Given the description of an element on the screen output the (x, y) to click on. 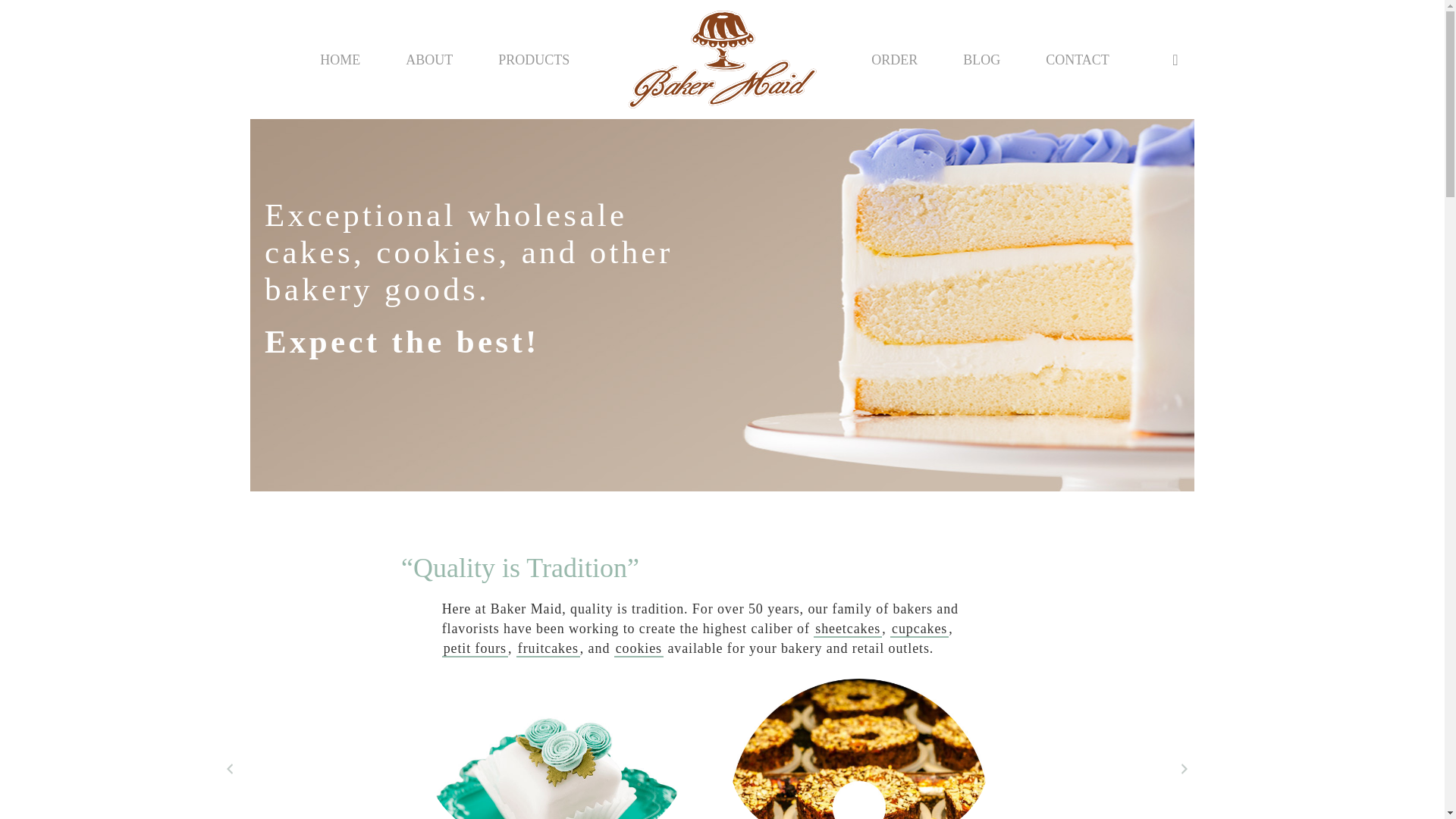
BLOG (981, 59)
PRODUCTS (533, 59)
sheetcakes (847, 629)
ABOUT (429, 59)
ORDER (893, 59)
HOME (339, 59)
CONTACT (1077, 59)
cookies (638, 649)
fruitcakes (547, 649)
cupcakes (919, 629)
petit fours (475, 649)
